Given the description of an element on the screen output the (x, y) to click on. 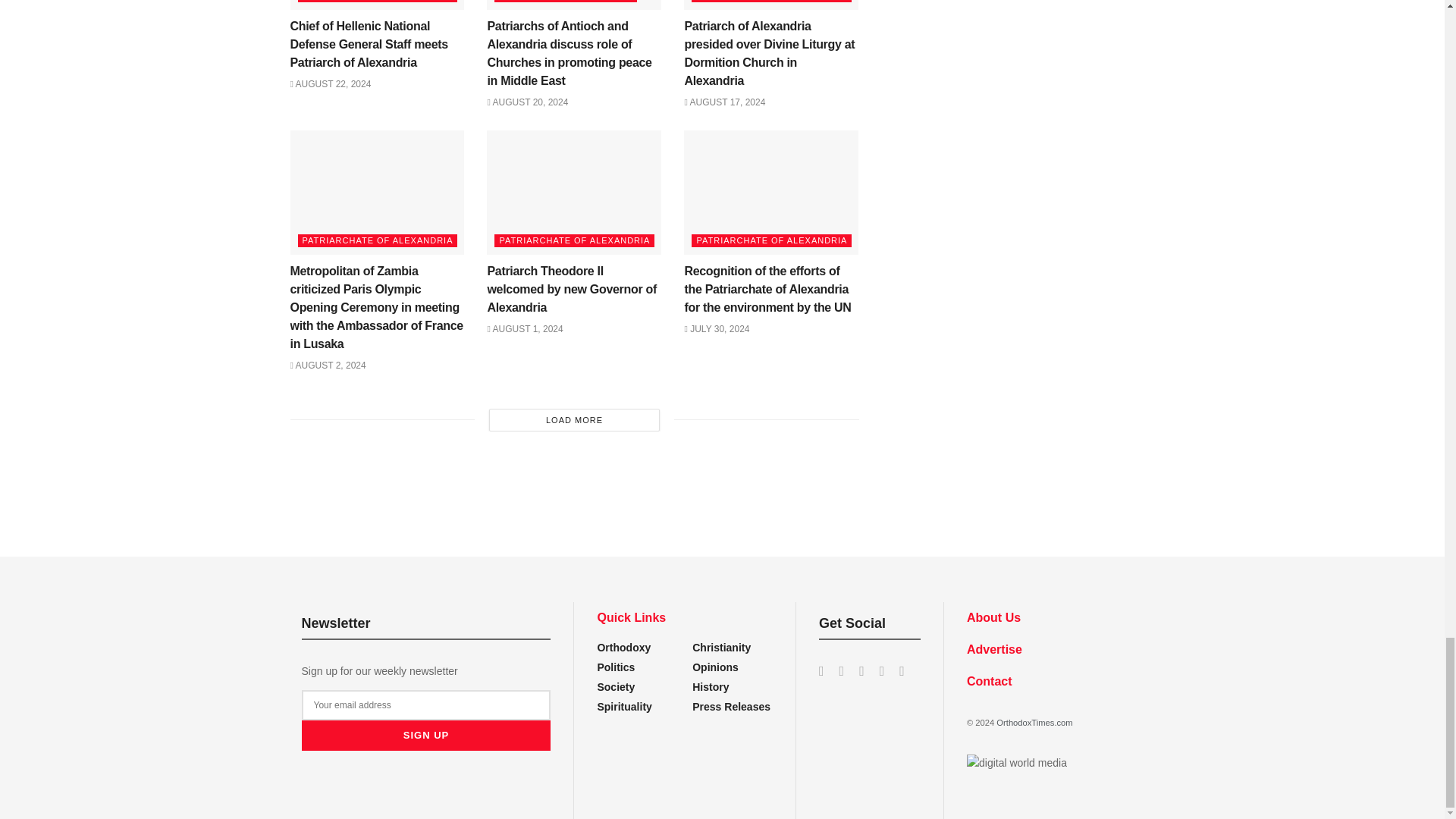
Sign up (426, 735)
You can add some category description here. (731, 706)
OrthodoxTimes.com (1033, 722)
You can add some category description here. (711, 686)
